Given the description of an element on the screen output the (x, y) to click on. 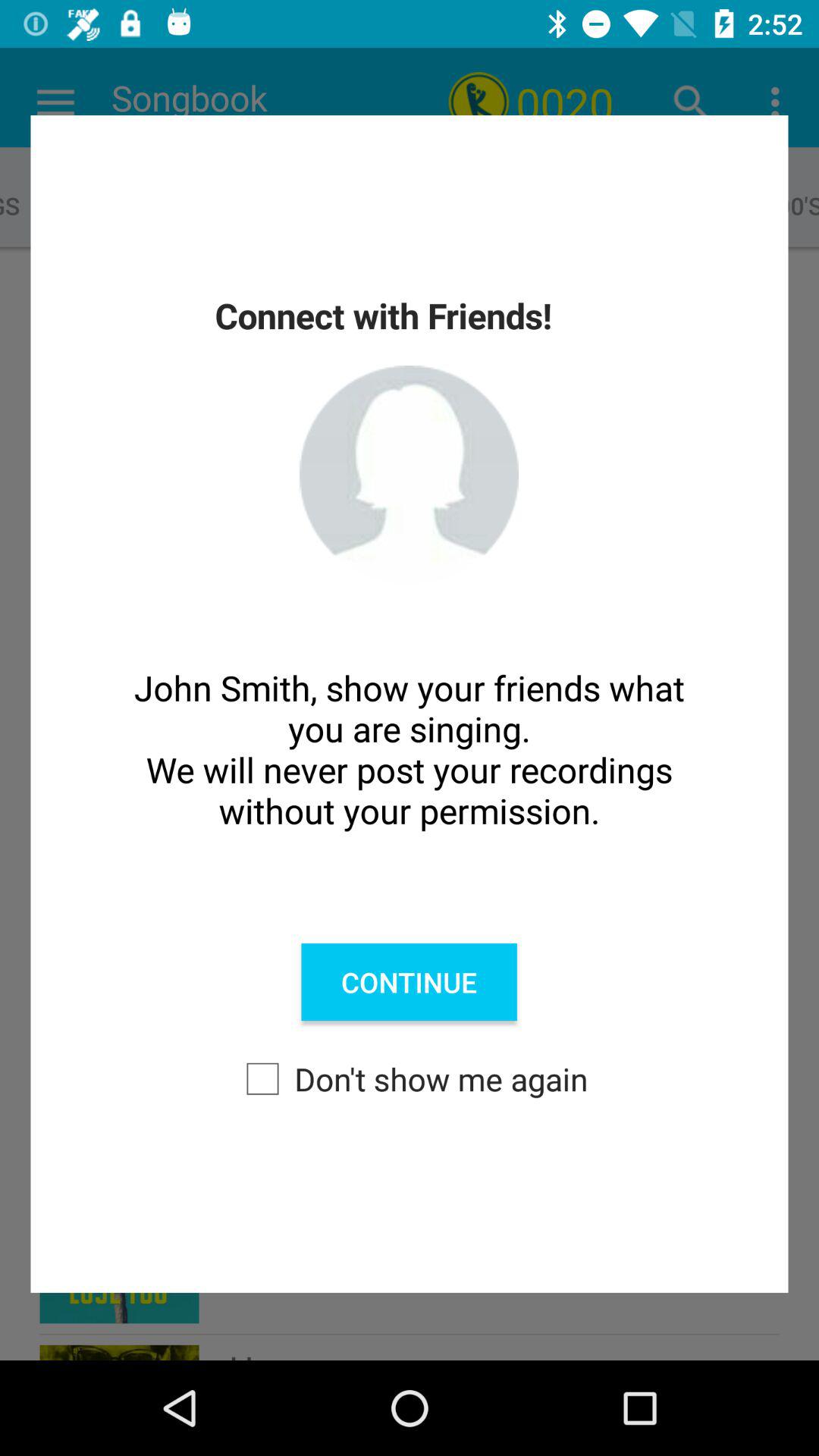
tap the icon below the john smith show icon (408, 981)
